Given the description of an element on the screen output the (x, y) to click on. 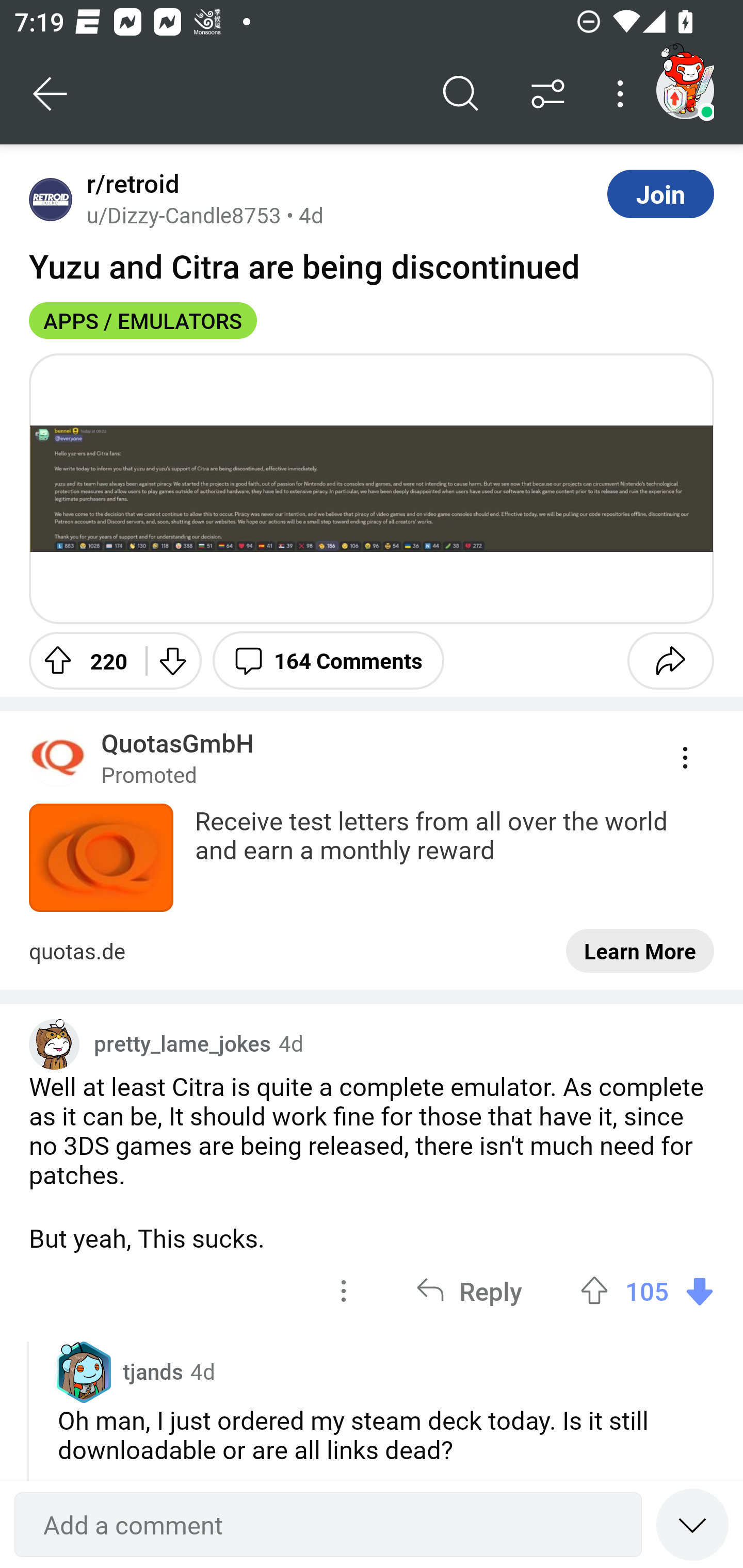
Back (50, 93)
TestAppium002 account (685, 90)
Search comments (460, 93)
Sort comments (547, 93)
More options (623, 93)
r/retroid (129, 183)
Join (660, 193)
Avatar (50, 199)
APPS / EMULATORS (142, 320)
Image (371, 488)
Upvote 220 (79, 660)
Downvote (171, 660)
164 Comments (328, 660)
Share (670, 660)
Custom avatar (53, 1044)
options (343, 1290)
Reply (469, 1290)
Upvote 105 105 votes Downvote (647, 1290)
Speed read (692, 1524)
Add a comment (327, 1524)
